Given the description of an element on the screen output the (x, y) to click on. 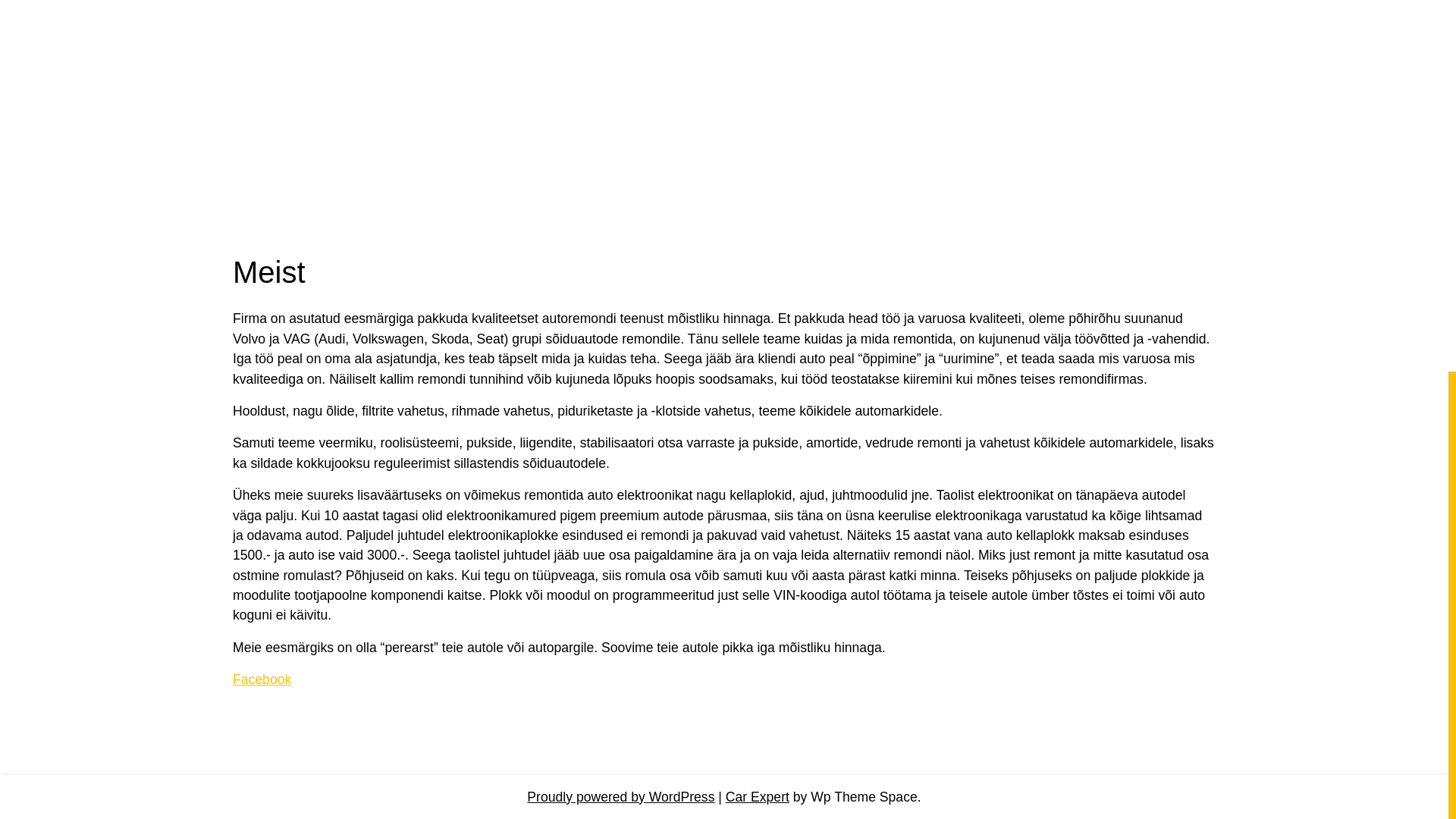
Car Expert (757, 796)
Facebook (261, 679)
Proudly powered by WordPress (620, 796)
